Given the description of an element on the screen output the (x, y) to click on. 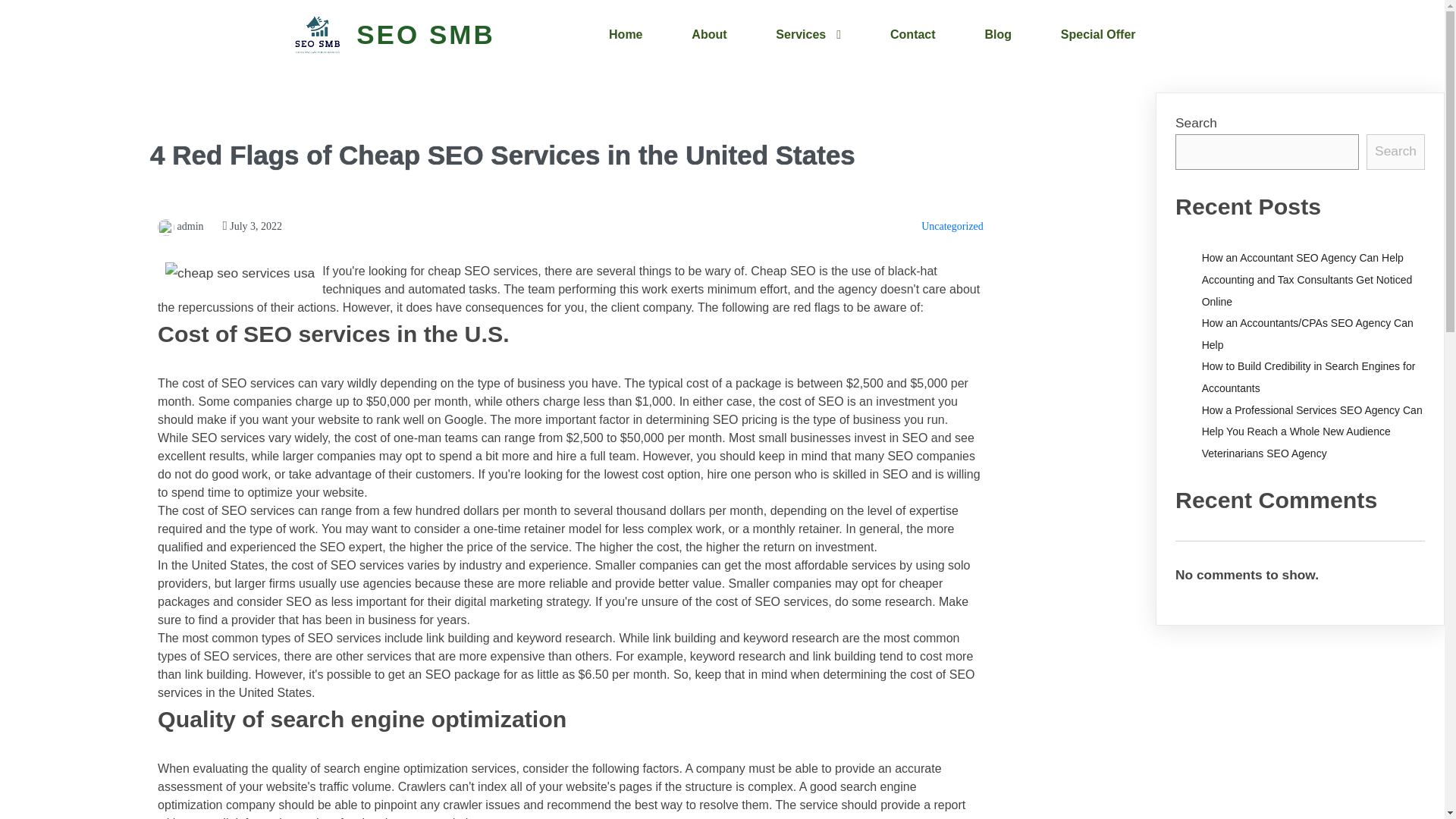
July 3, 2022 (252, 225)
Blog (996, 35)
Veterinarians SEO Agency (1264, 453)
Search (1396, 151)
Special Offer (1098, 35)
Services (807, 35)
Contact (912, 35)
admin (180, 225)
How to Build Credibility in Search Engines for Accountants (1308, 376)
Uncategorized (952, 225)
About (708, 35)
Home (625, 35)
SEO SMB (411, 34)
